Given the description of an element on the screen output the (x, y) to click on. 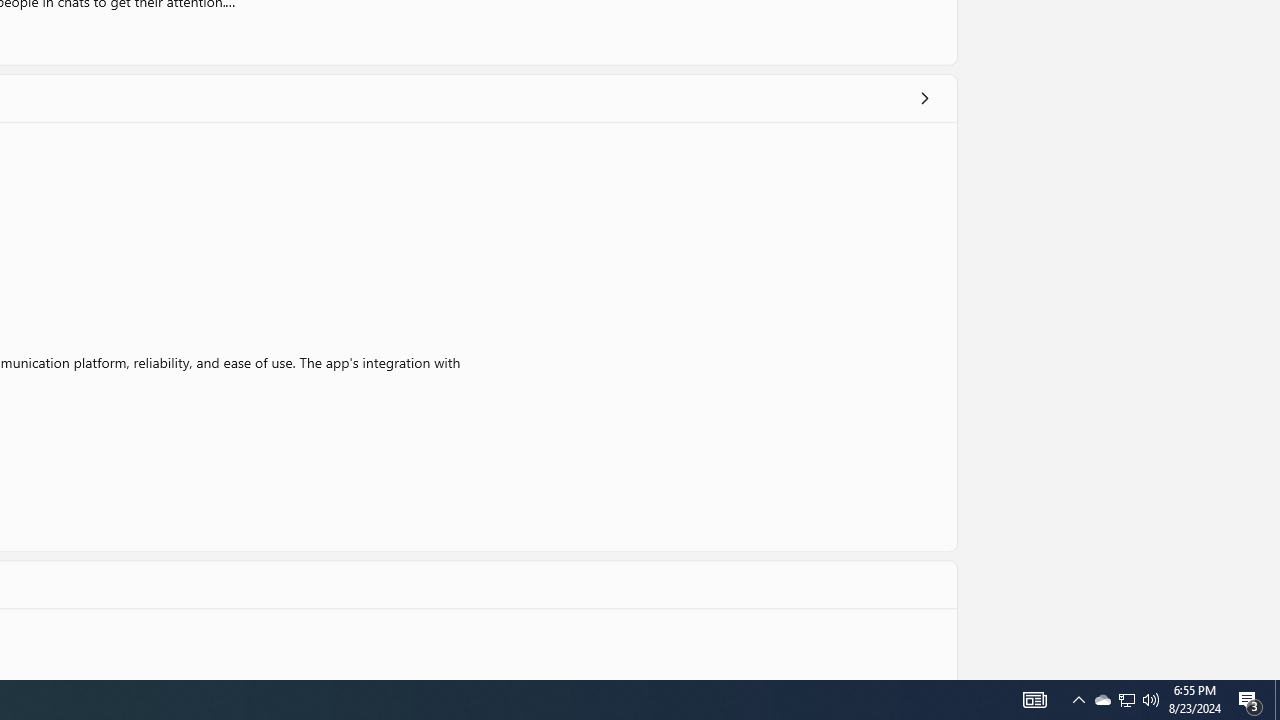
Show all ratings and reviews (924, 97)
